Given the description of an element on the screen output the (x, y) to click on. 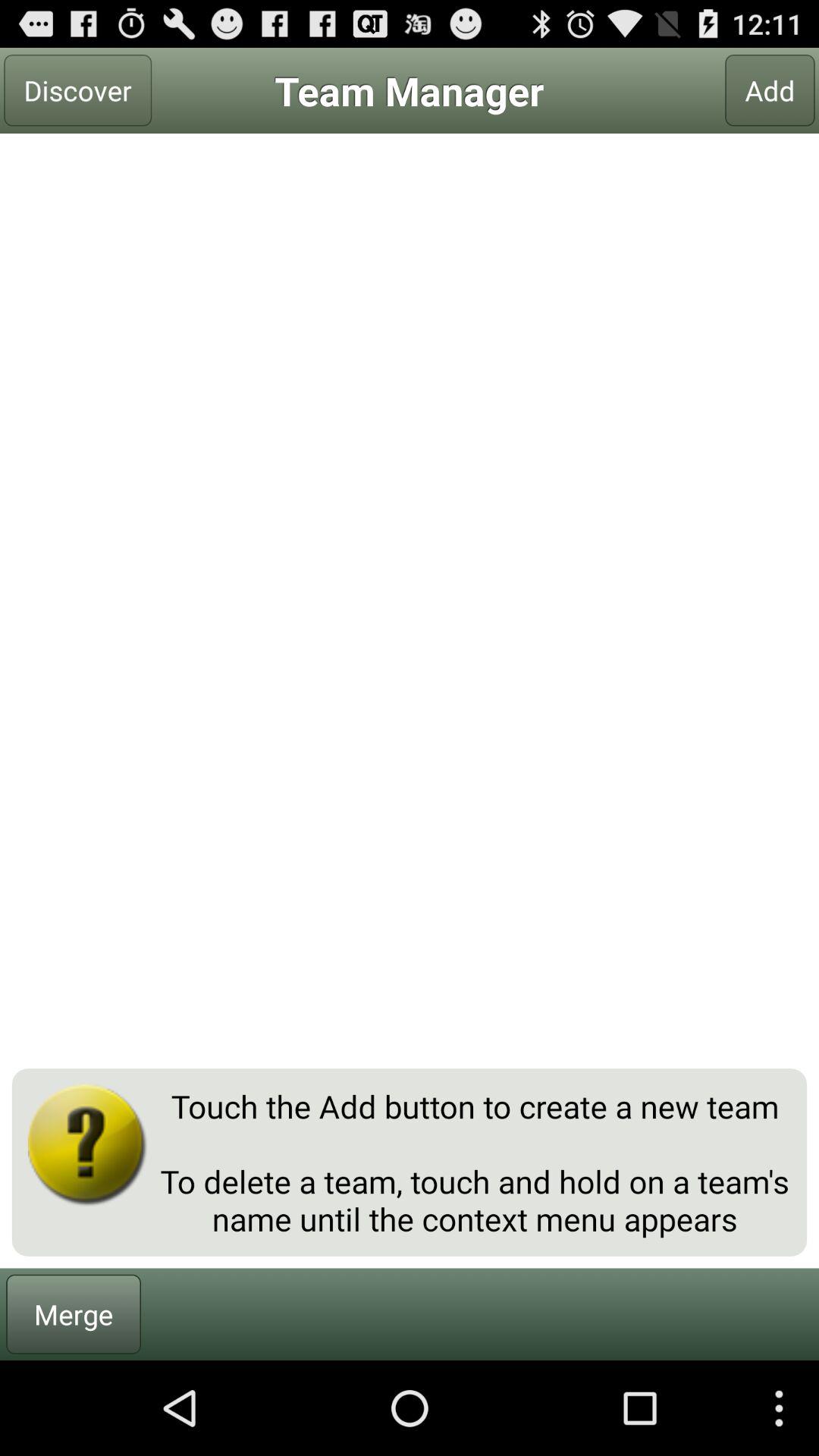
launch item next to team manager icon (77, 90)
